Given the description of an element on the screen output the (x, y) to click on. 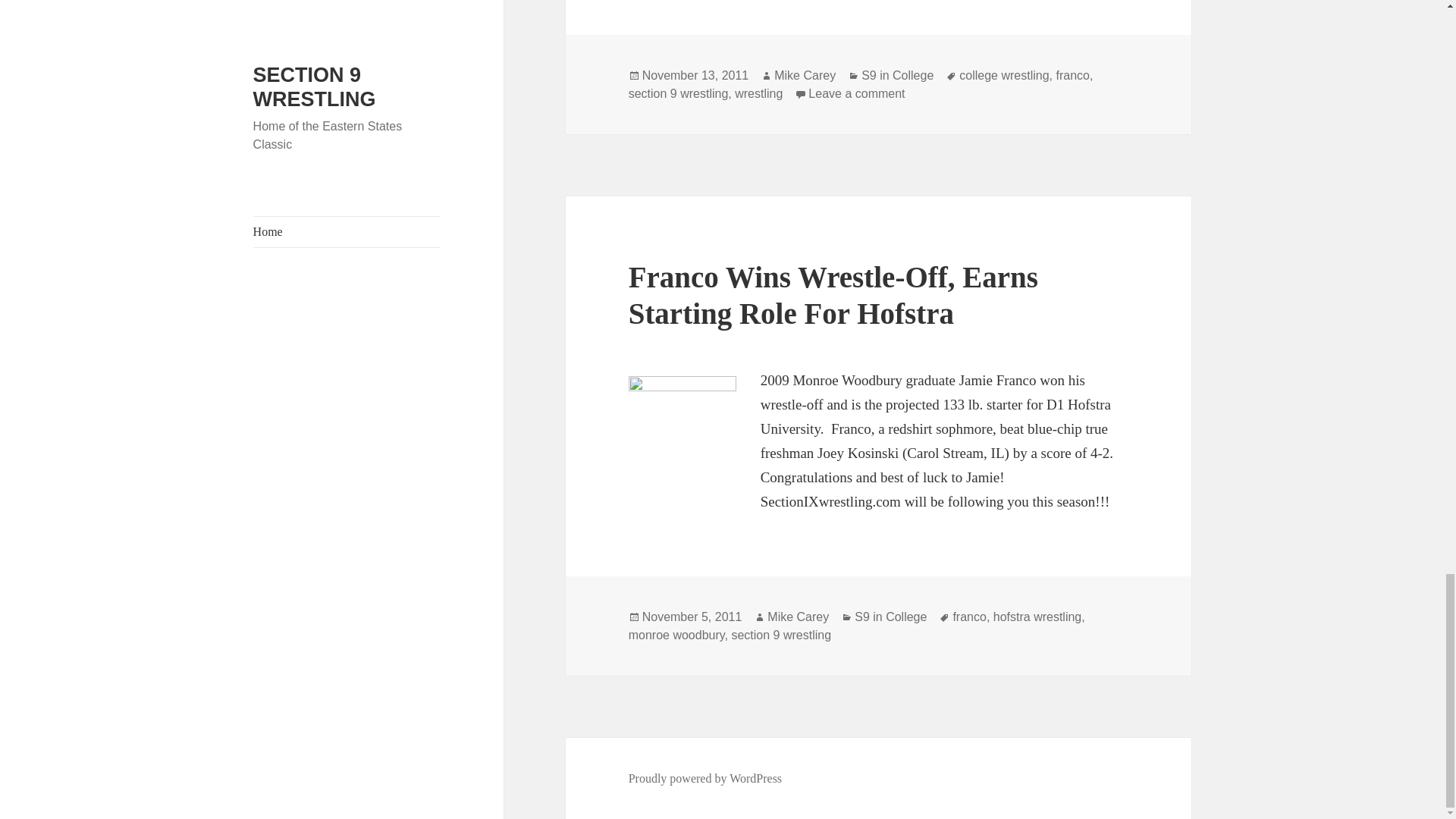
November 5, 2011 (692, 617)
Franco (682, 431)
college wrestling (1003, 75)
November 13, 2011 (695, 75)
franco (1072, 75)
Mike Carey (804, 75)
Franco Wins Wrestle-Off, Earns Starting Role For Hofstra (833, 295)
S9 in College (897, 75)
section 9 wrestling (678, 93)
wrestling (759, 93)
